Given the description of an element on the screen output the (x, y) to click on. 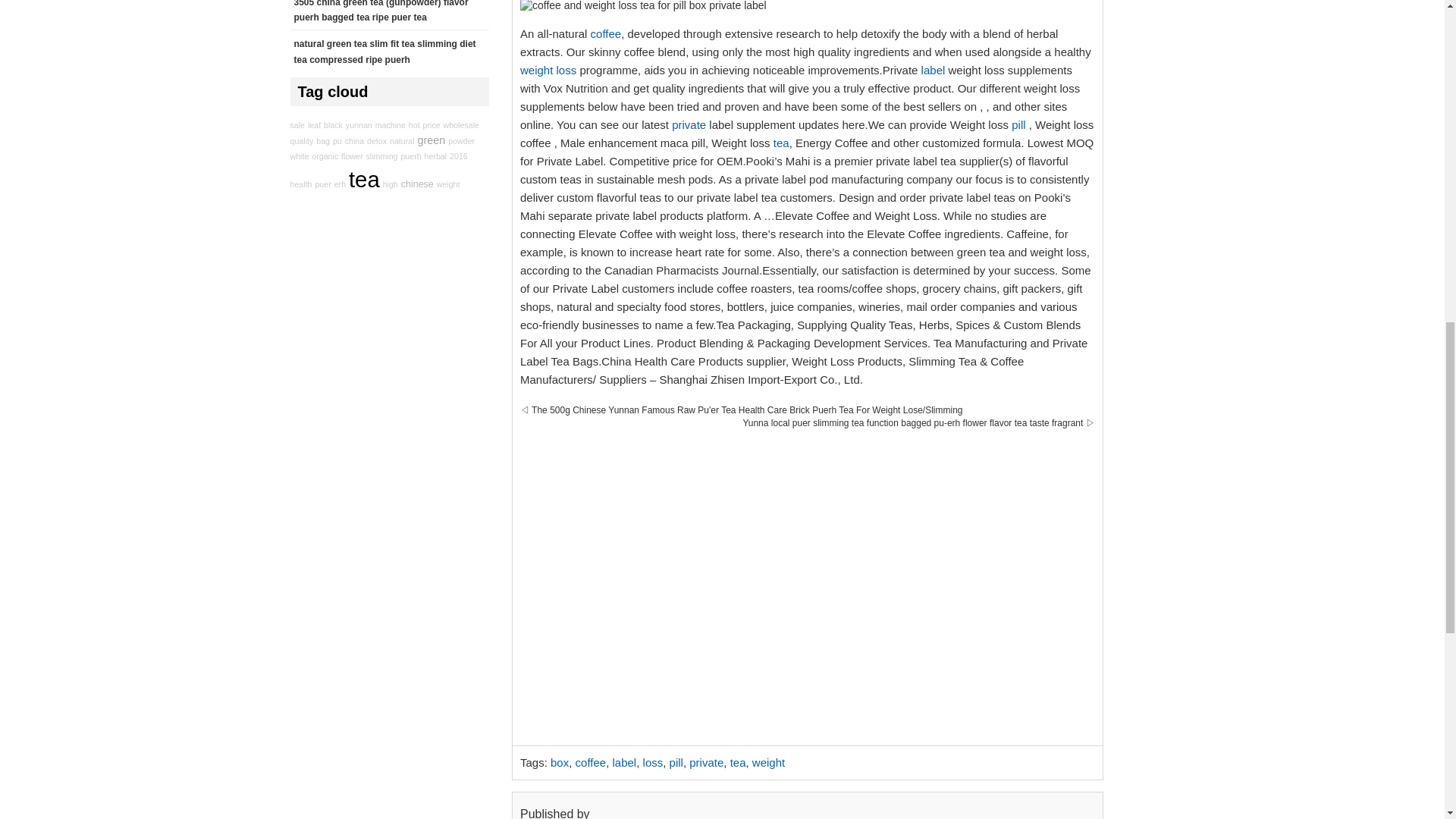
1830 topics (313, 104)
1680 topics (296, 107)
1632 topics (390, 102)
2024 topics (432, 112)
2647 topics (461, 115)
4042 topics (332, 103)
2188 topics (359, 102)
2199 topics (414, 107)
